Given the description of an element on the screen output the (x, y) to click on. 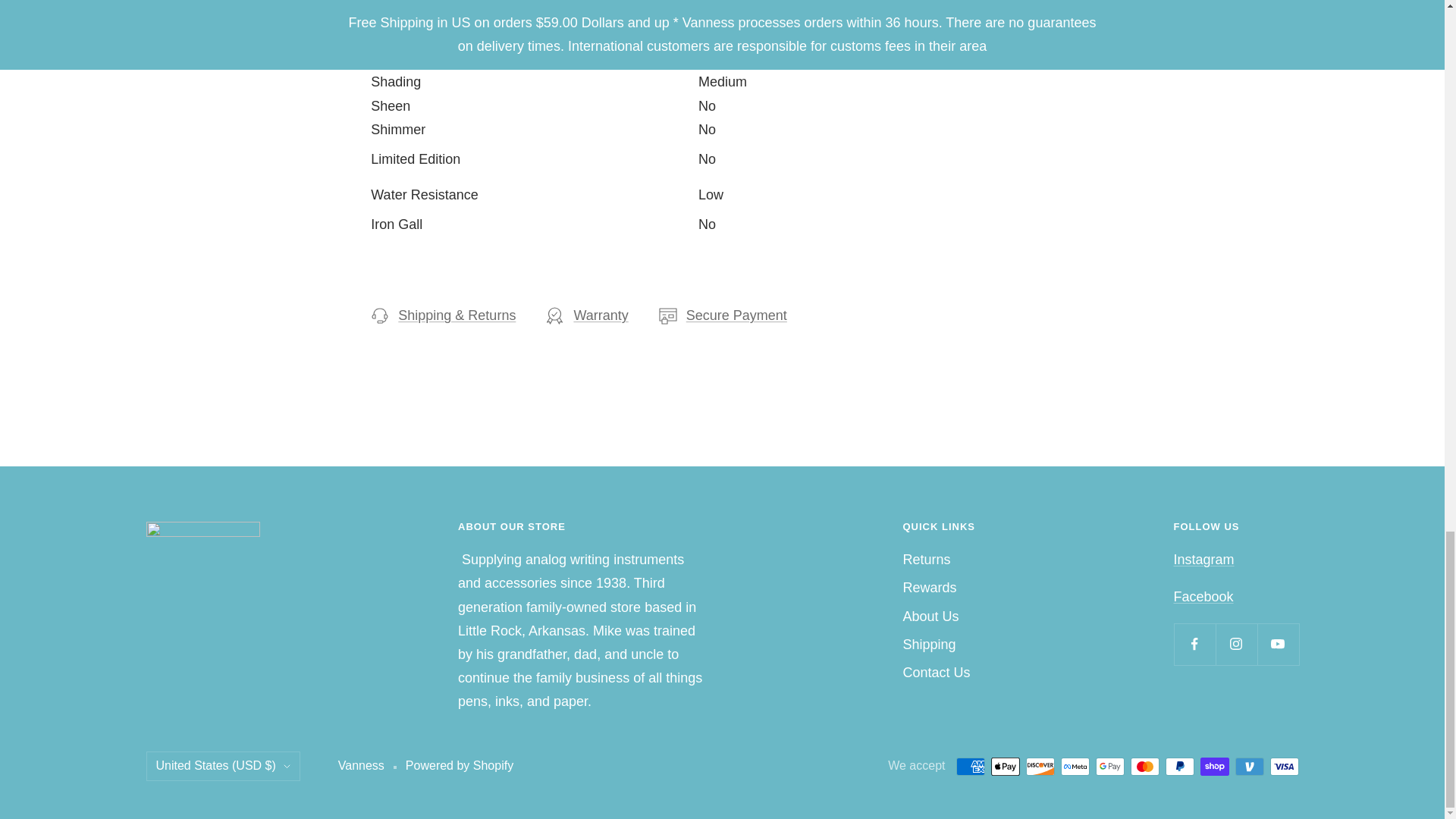
Vanness1938 (1203, 596)
